Given the description of an element on the screen output the (x, y) to click on. 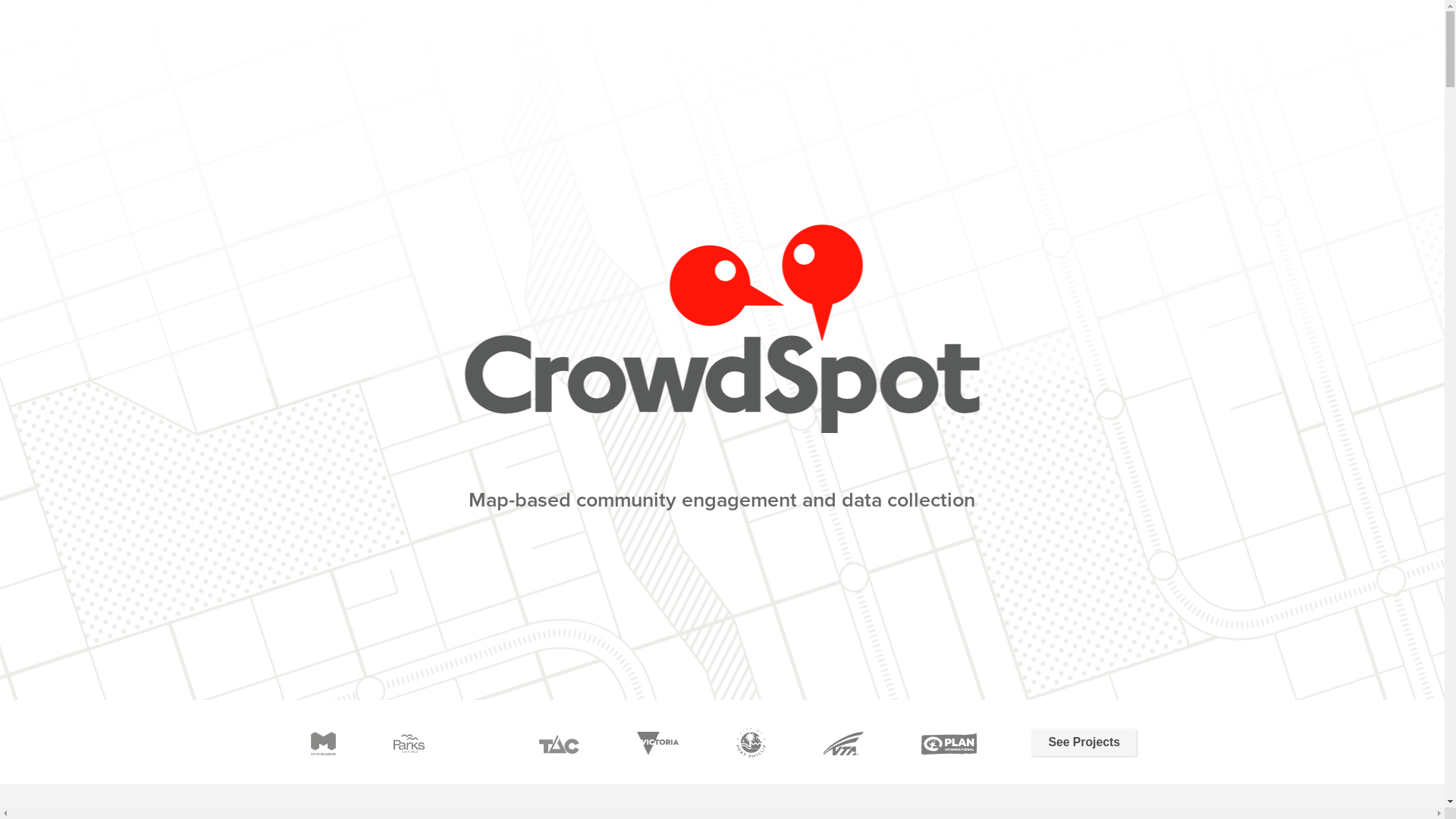
See Projects Element type: text (1083, 742)
